Given the description of an element on the screen output the (x, y) to click on. 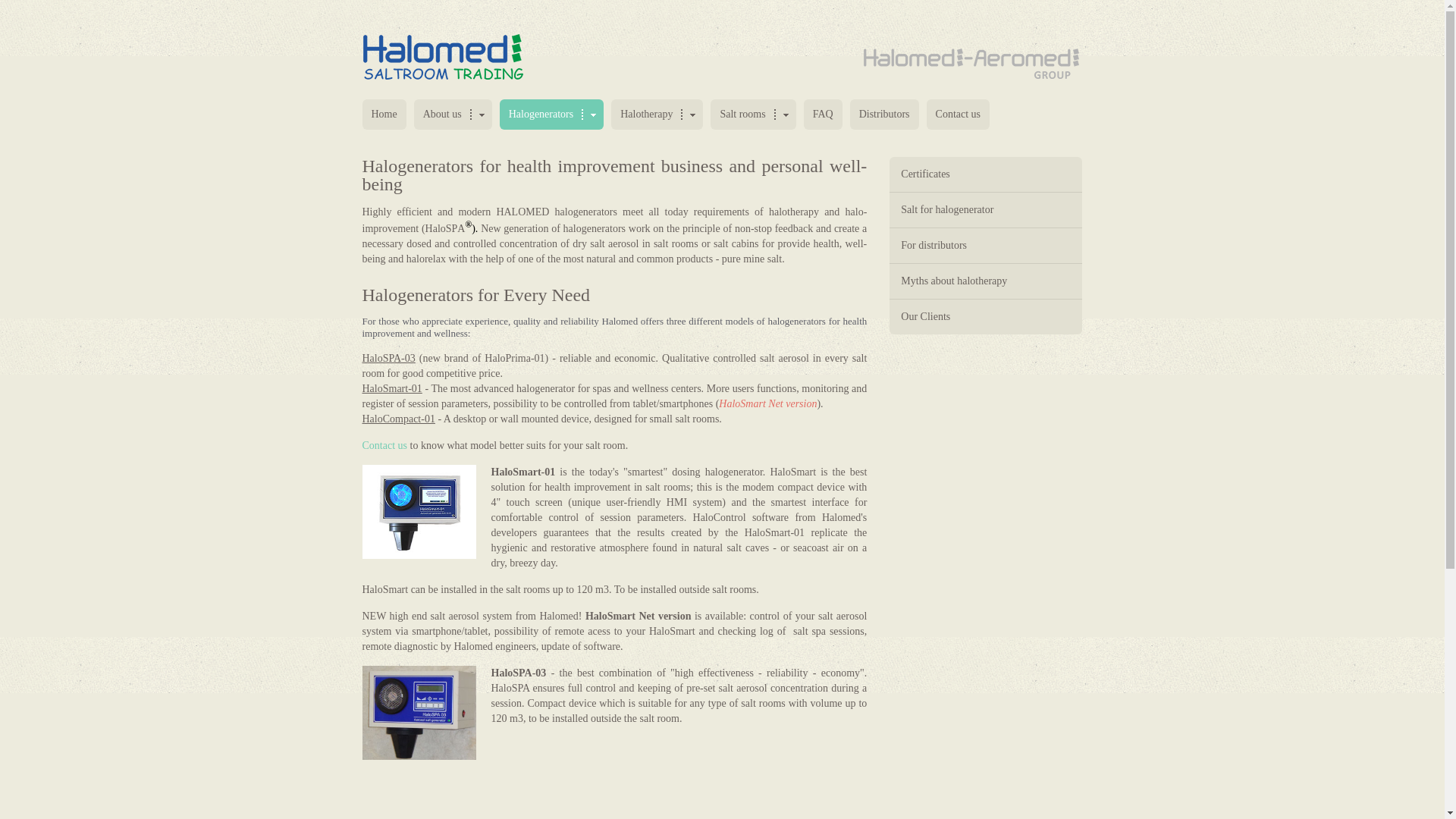
Our Clients (985, 316)
Halogenerators (551, 114)
Salt for halogenerator (985, 209)
Certificates (985, 174)
Contact us (384, 445)
For distributors (985, 245)
Myths about halotherapy (985, 280)
About us (452, 114)
Halotherapy (657, 114)
